Given the description of an element on the screen output the (x, y) to click on. 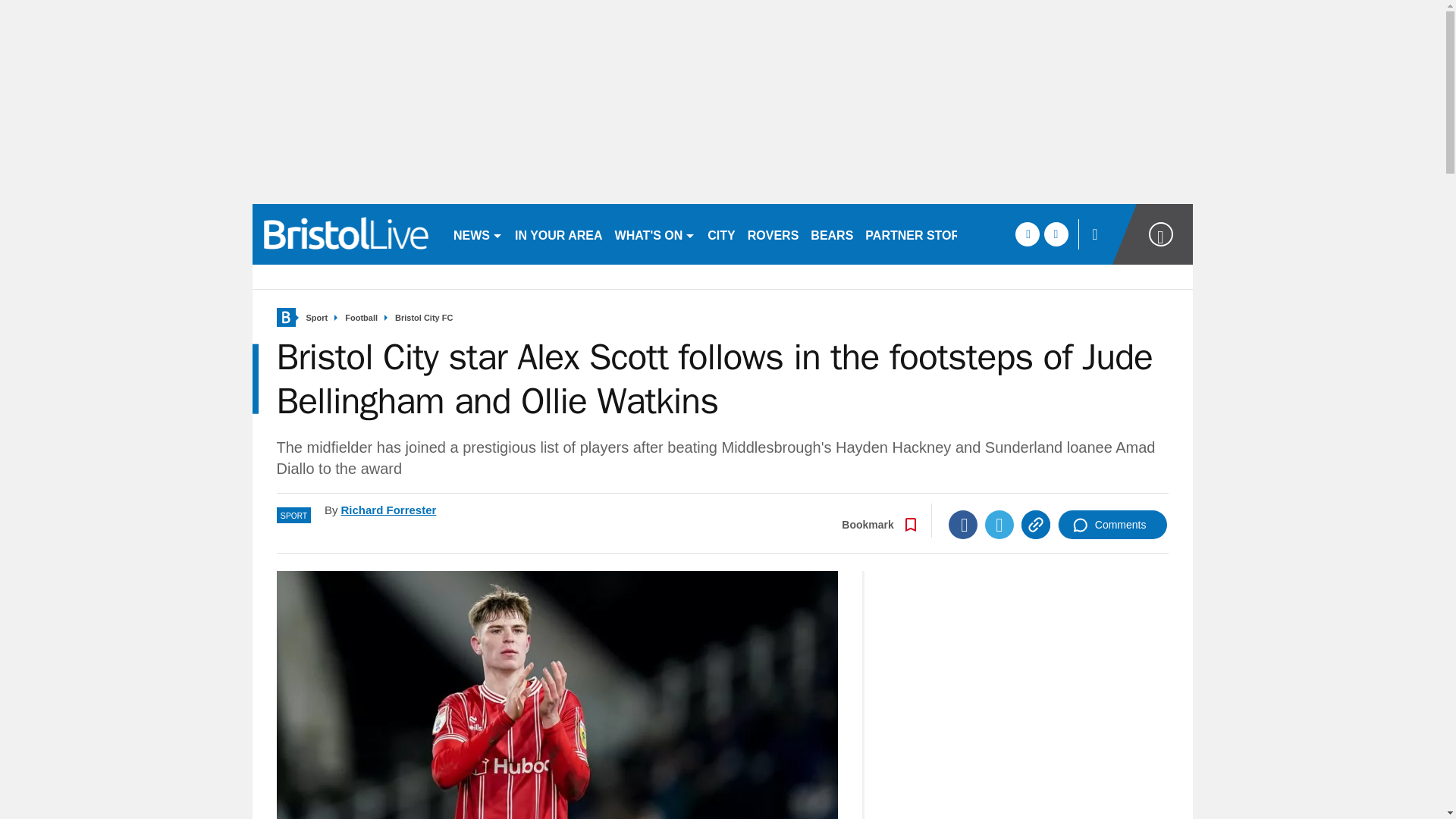
ROVERS (773, 233)
BEARS (832, 233)
facebook (1026, 233)
Twitter (999, 524)
twitter (1055, 233)
NEWS (477, 233)
Comments (1112, 524)
PARTNER STORIES (922, 233)
IN YOUR AREA (558, 233)
WHAT'S ON (654, 233)
